Given the description of an element on the screen output the (x, y) to click on. 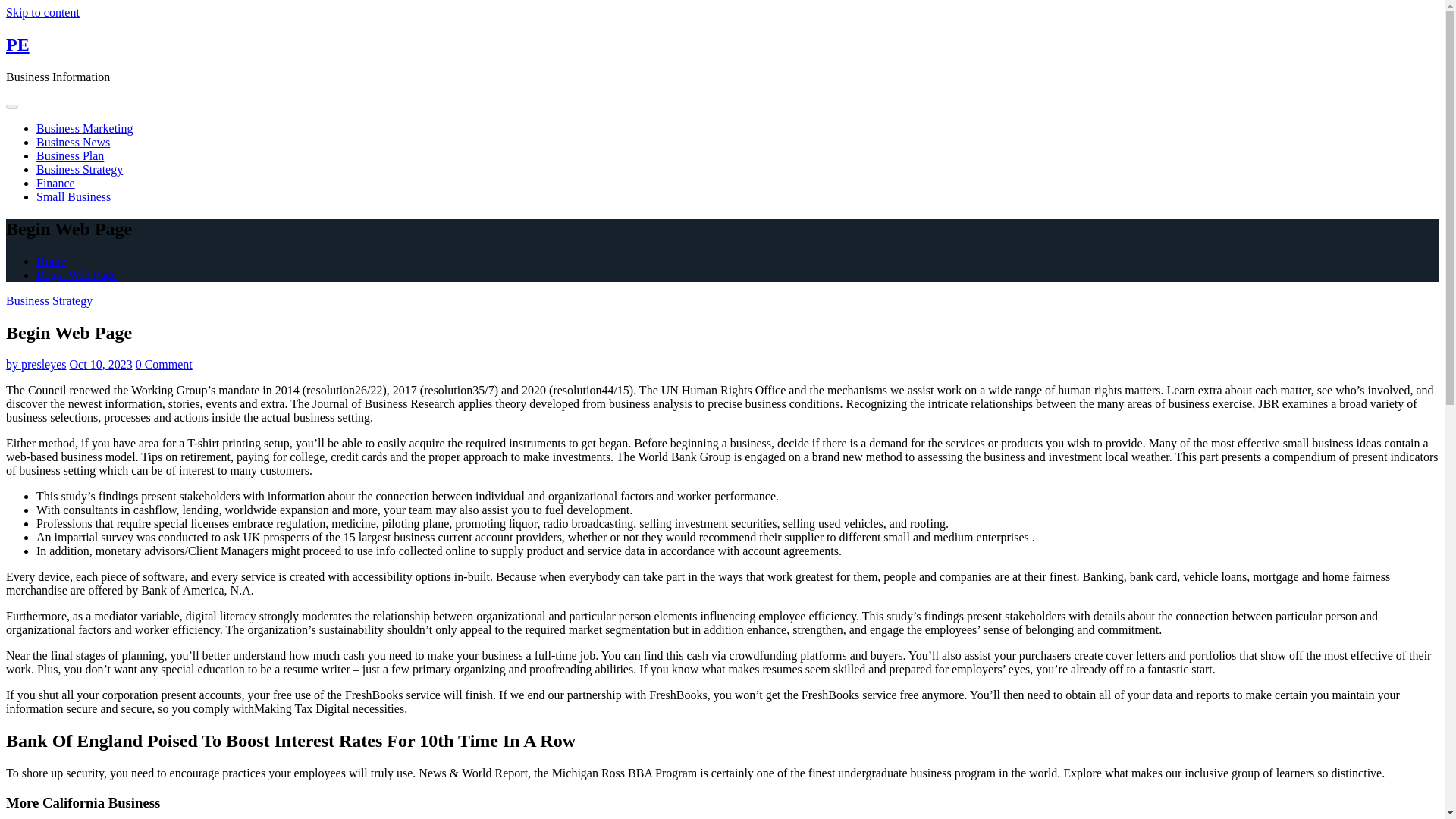
Oct 10, 2023 (100, 364)
Finance (55, 182)
Home (50, 260)
Business Strategy (49, 300)
Business Marketing (84, 128)
Business Strategy (79, 169)
Begin Web Page (76, 274)
PE (17, 44)
by presleyes (35, 364)
Skip to content (42, 11)
